Given the description of an element on the screen output the (x, y) to click on. 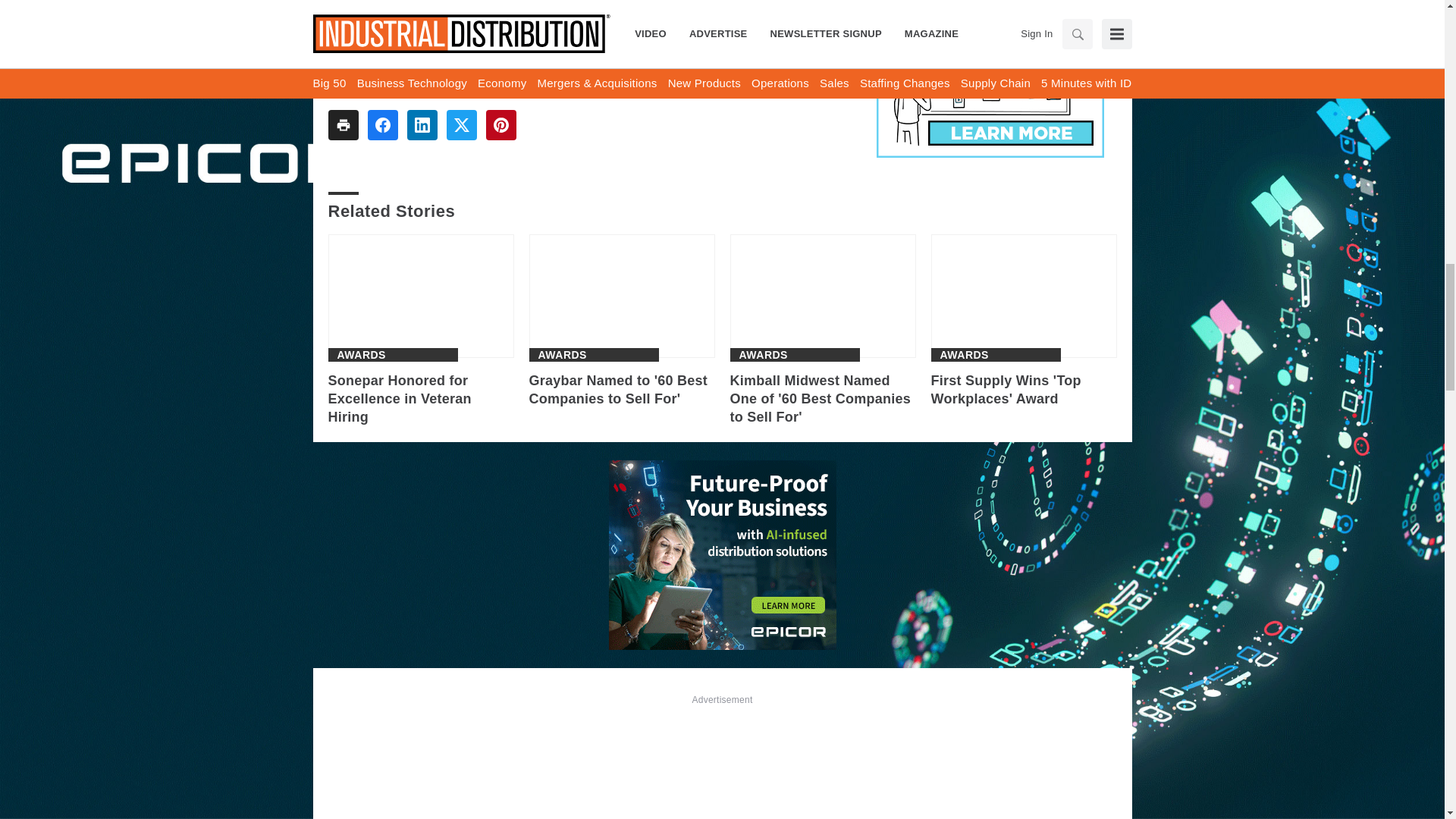
Share To pinterest (499, 124)
Share To twitter (460, 124)
Share To facebook (381, 124)
Share To print (342, 124)
Share To linkedin (421, 124)
